Given the description of an element on the screen output the (x, y) to click on. 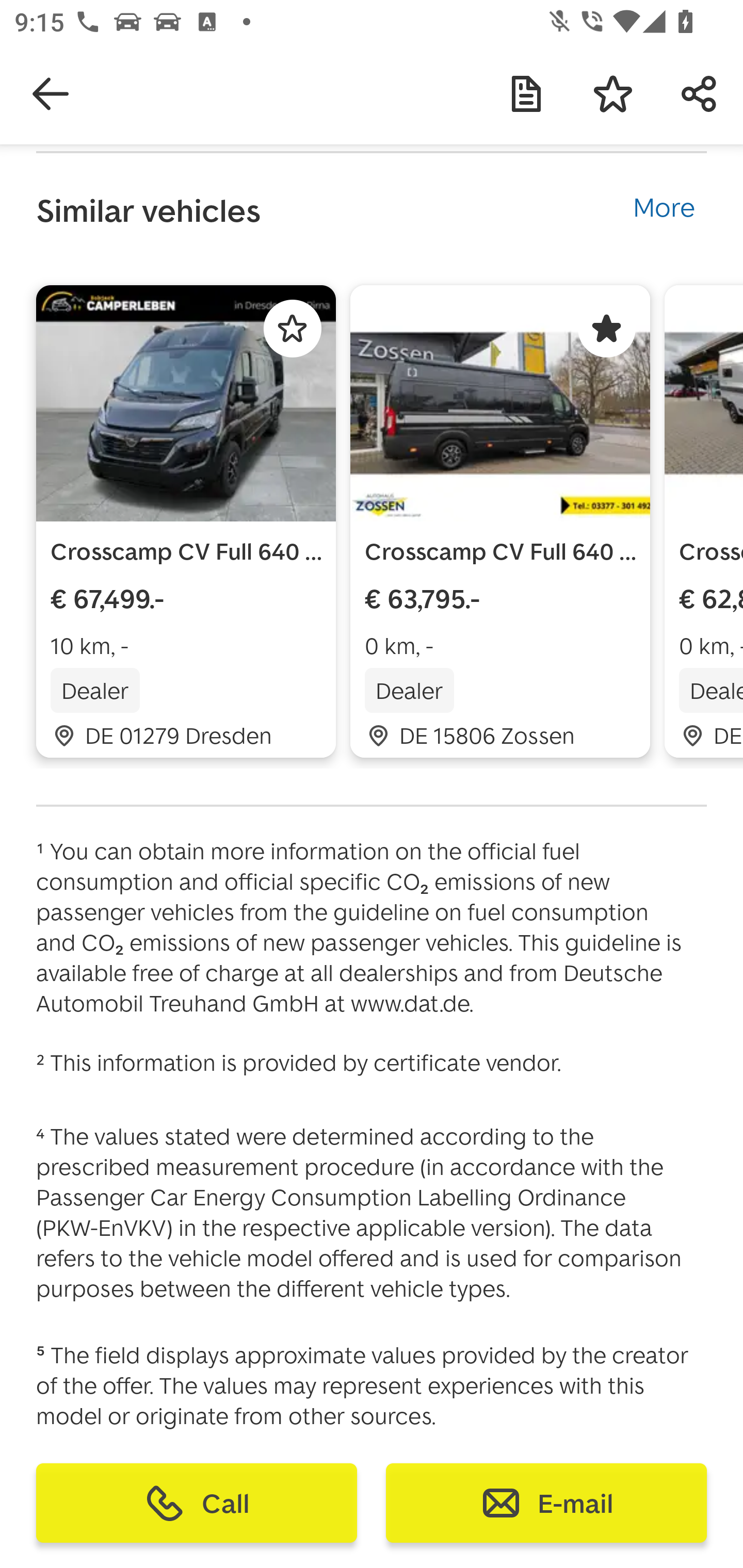
Navigate up (50, 93)
My Notes (525, 93)
Save (612, 93)
Forward (699, 93)
More (663, 203)
Call (196, 1502)
E-mail (545, 1502)
